Given the description of an element on the screen output the (x, y) to click on. 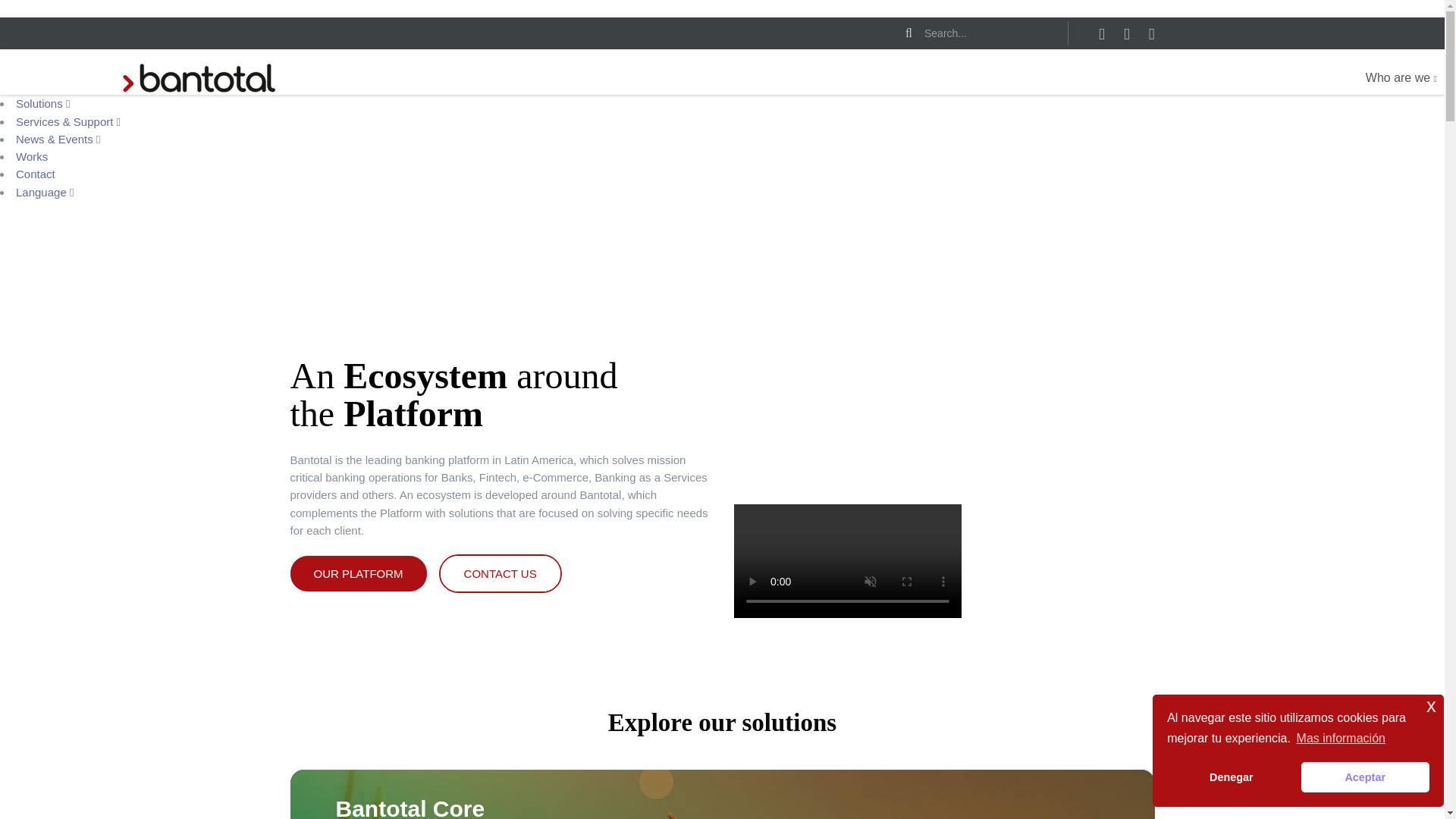
Solutions (42, 103)
Contact (35, 173)
Who are we (1401, 78)
Works (32, 155)
Language (45, 191)
